Given the description of an element on the screen output the (x, y) to click on. 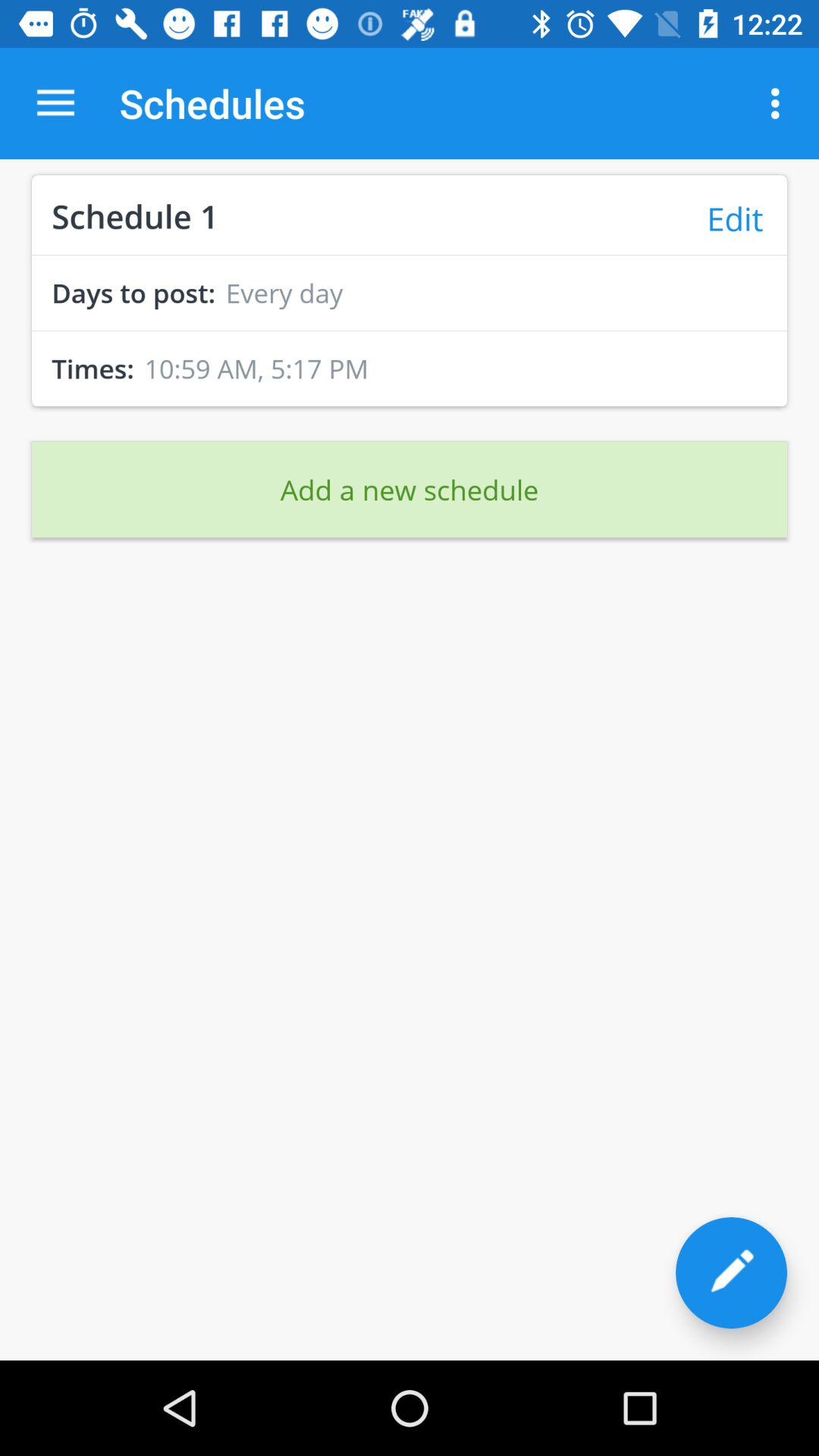
launch the icon to the left of edit item (134, 214)
